Given the description of an element on the screen output the (x, y) to click on. 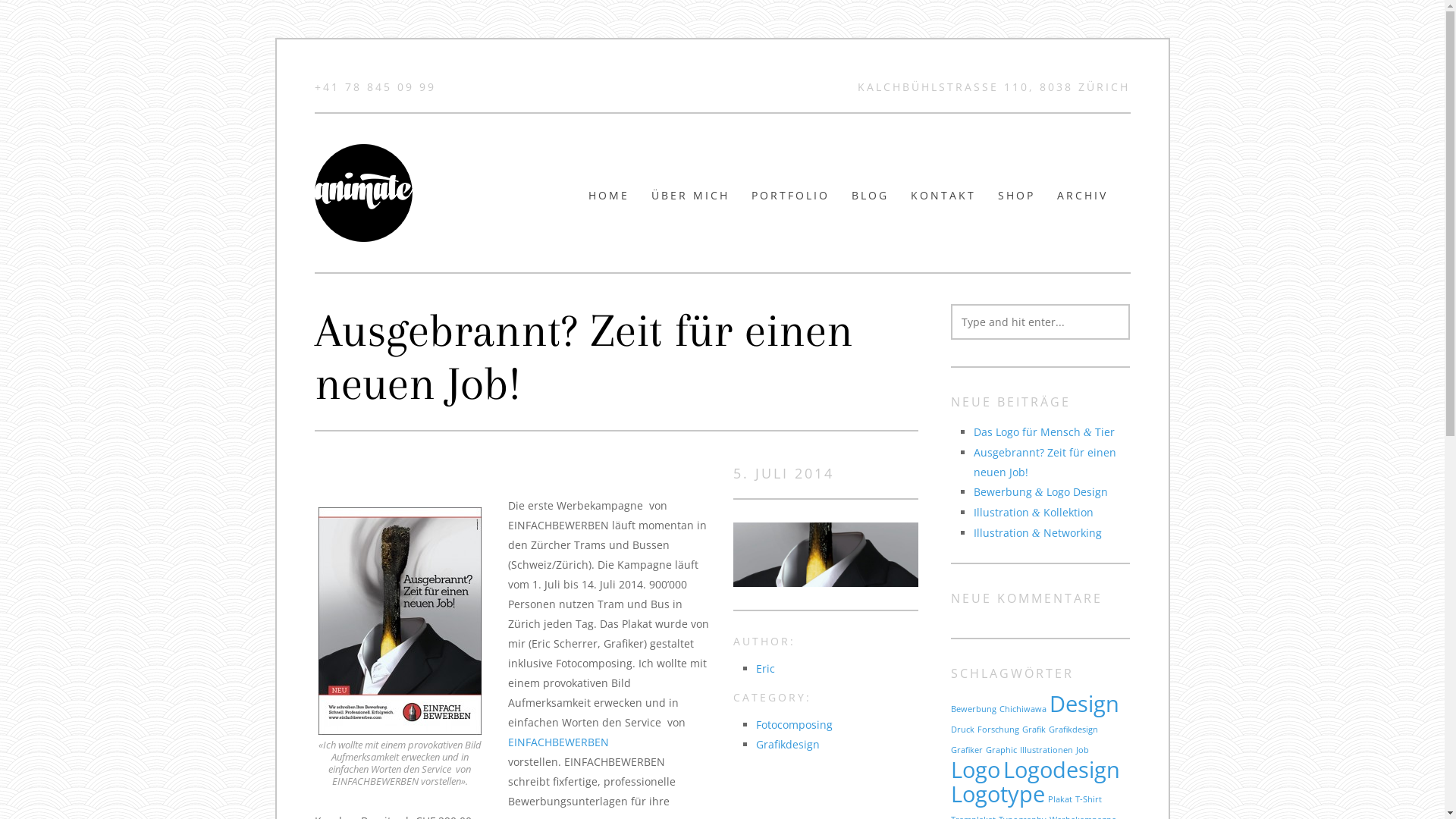
SHOP Element type: text (1016, 200)
BLOG Element type: text (869, 200)
T-Shirt Element type: text (1088, 798)
Job Element type: text (1082, 749)
Fotocomposing Element type: text (794, 724)
PORTFOLIO Element type: text (790, 200)
Eric Element type: text (765, 668)
KONTAKT Element type: text (942, 200)
Druck Element type: text (962, 729)
Logodesign Element type: text (1061, 769)
Grafiker Element type: text (966, 749)
Logotype Element type: text (997, 793)
Logo Element type: text (975, 769)
Illustrationen Element type: text (1046, 749)
Plakat Element type: text (1060, 798)
Grafik Element type: text (1033, 729)
Illustration & Networking Element type: text (1037, 532)
Bewerbung & Logo Design Element type: text (1040, 491)
ARCHIV Element type: text (1082, 200)
EINFACHBEWERBEN Element type: text (558, 741)
Design Element type: text (1084, 703)
Graphic Element type: text (1000, 749)
Chichiwawa Element type: text (1022, 708)
Grafikdesign Element type: text (787, 744)
Grafikdesign Element type: text (1073, 729)
Illustration & Kollektion Element type: text (1033, 512)
Bewerbung Element type: text (973, 708)
HOME Element type: text (608, 200)
Forschung Element type: text (998, 729)
